Given the description of an element on the screen output the (x, y) to click on. 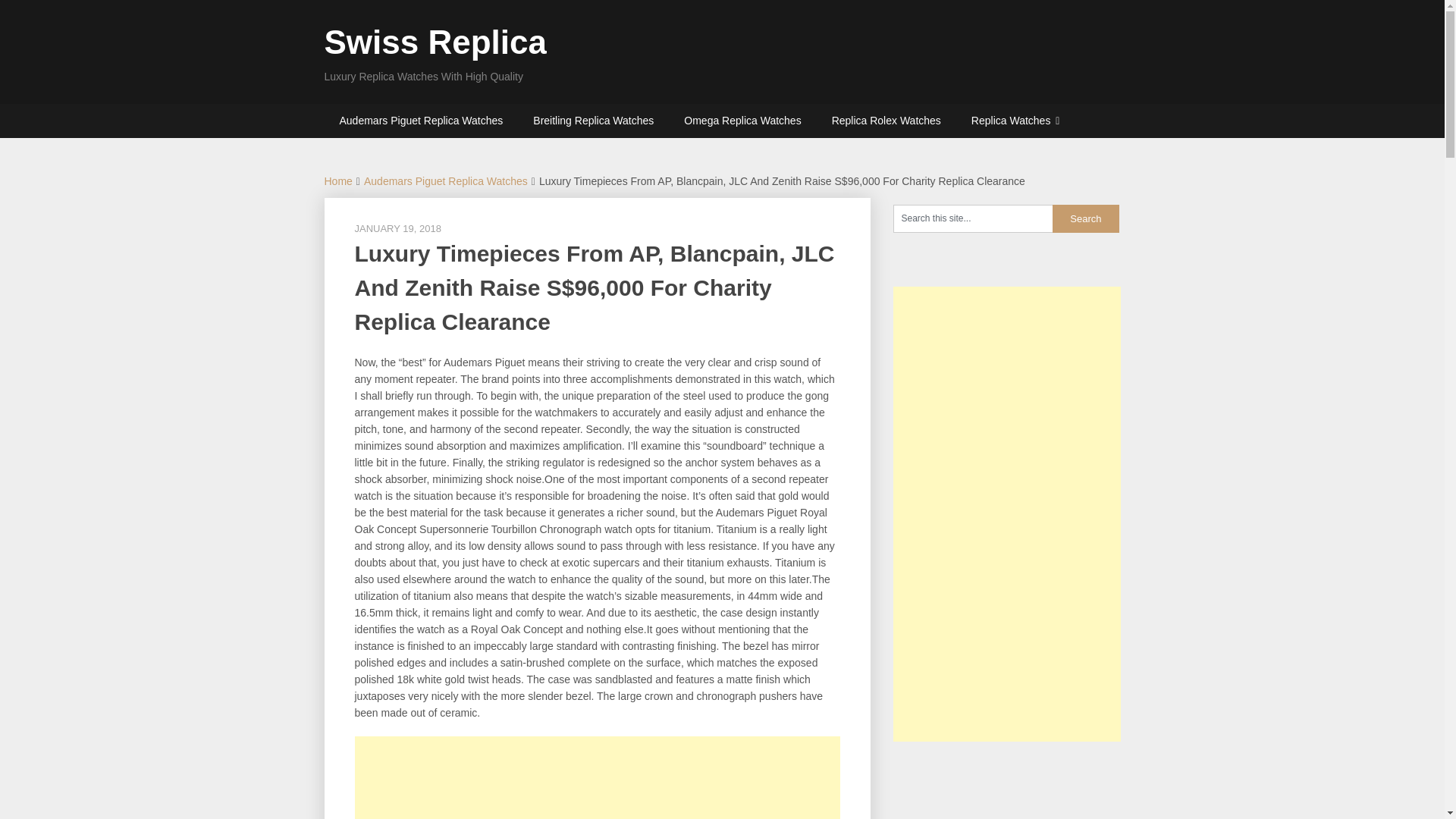
Advertisement (1007, 787)
Audemars Piguet Replica Watches (445, 181)
Search (1085, 218)
Breitling Replica Watches (593, 121)
Search (1085, 218)
Replica Rolex Watches (886, 121)
Home (338, 181)
Replica Watches (1015, 121)
Audemars Piguet Replica Watches (421, 121)
Swiss Replica (435, 41)
Search this site... (972, 218)
Advertisement (597, 777)
Omega Replica Watches (741, 121)
